Given the description of an element on the screen output the (x, y) to click on. 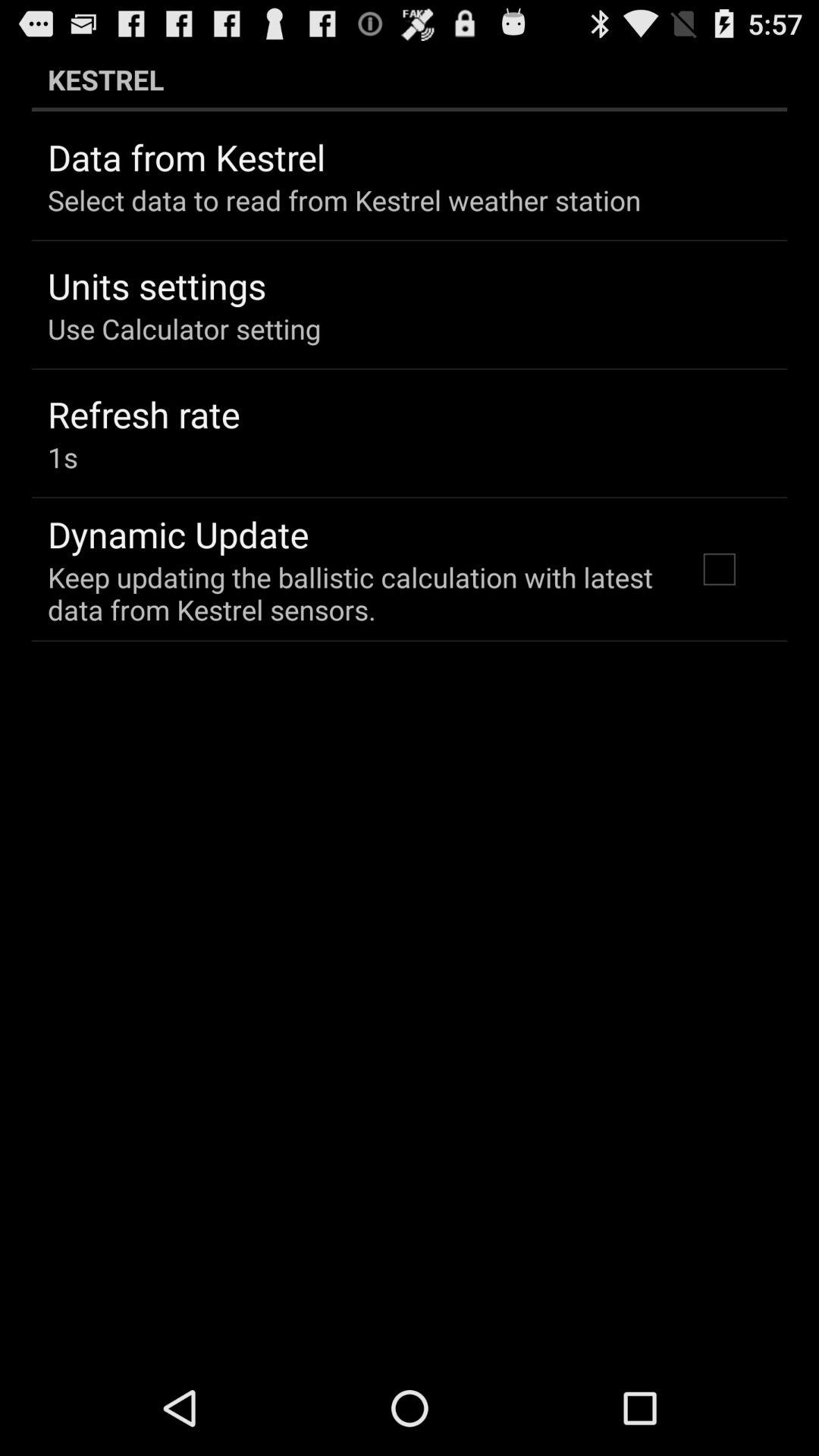
turn on item below the 1s icon (177, 534)
